Given the description of an element on the screen output the (x, y) to click on. 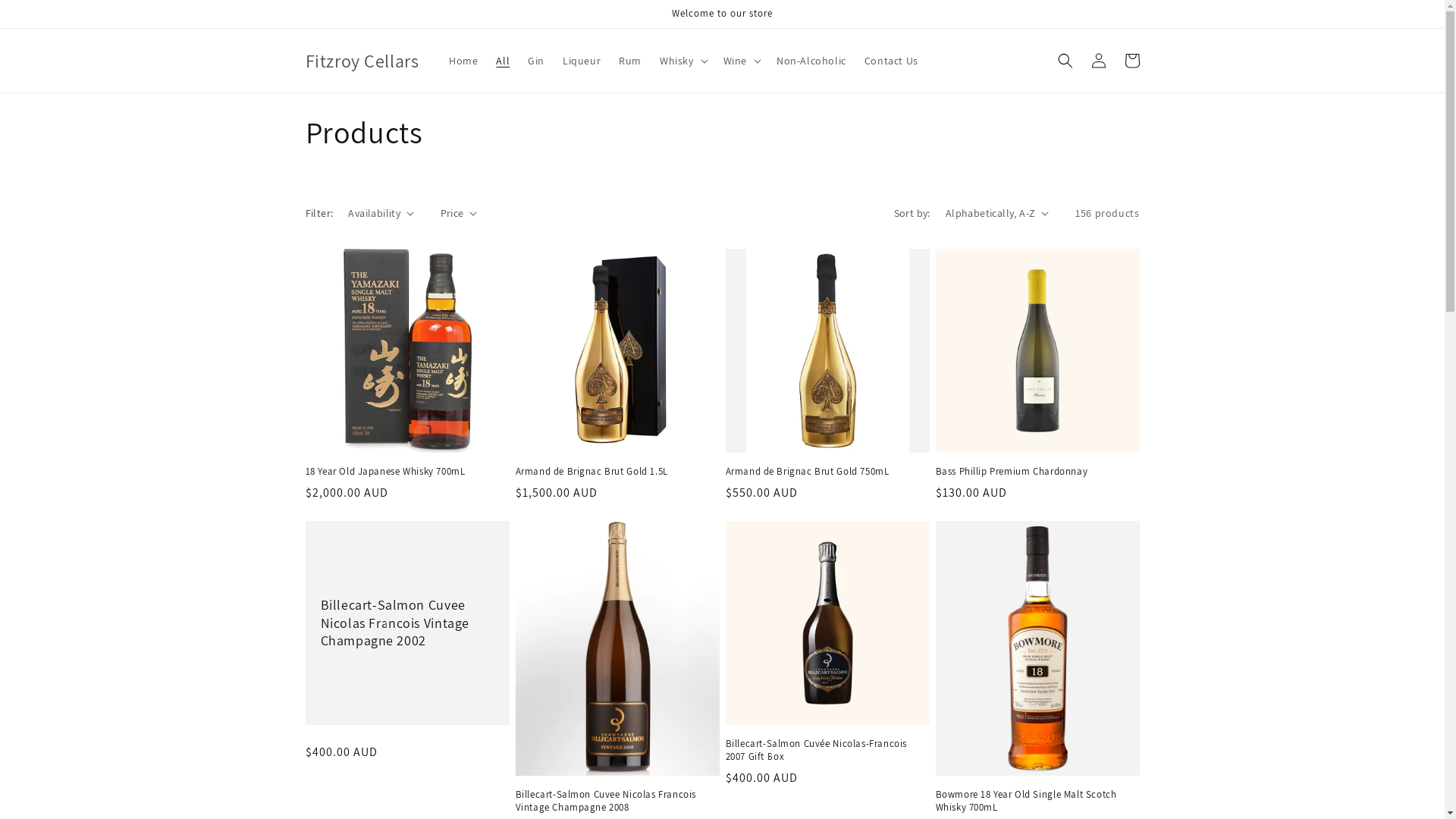
Home Element type: text (462, 60)
Bass Phillip Premium Chardonnay Element type: text (1037, 471)
Fitzroy Cellars Element type: text (361, 60)
Bowmore 18 Year Old Single Malt Scotch Whisky 700mL Element type: text (1037, 801)
Liqueur Element type: text (581, 60)
Armand de Brignac Brut Gold 1.5L Element type: text (617, 471)
Rum Element type: text (629, 60)
Contact Us Element type: text (891, 60)
Armand de Brignac Brut Gold 750mL Element type: text (826, 471)
All Element type: text (502, 60)
18 Year Old Japanese Whisky 700mL Element type: text (406, 471)
Cart Element type: text (1131, 60)
Non-Alcoholic Element type: text (811, 60)
Log in Element type: text (1097, 60)
Gin Element type: text (535, 60)
